Given the description of an element on the screen output the (x, y) to click on. 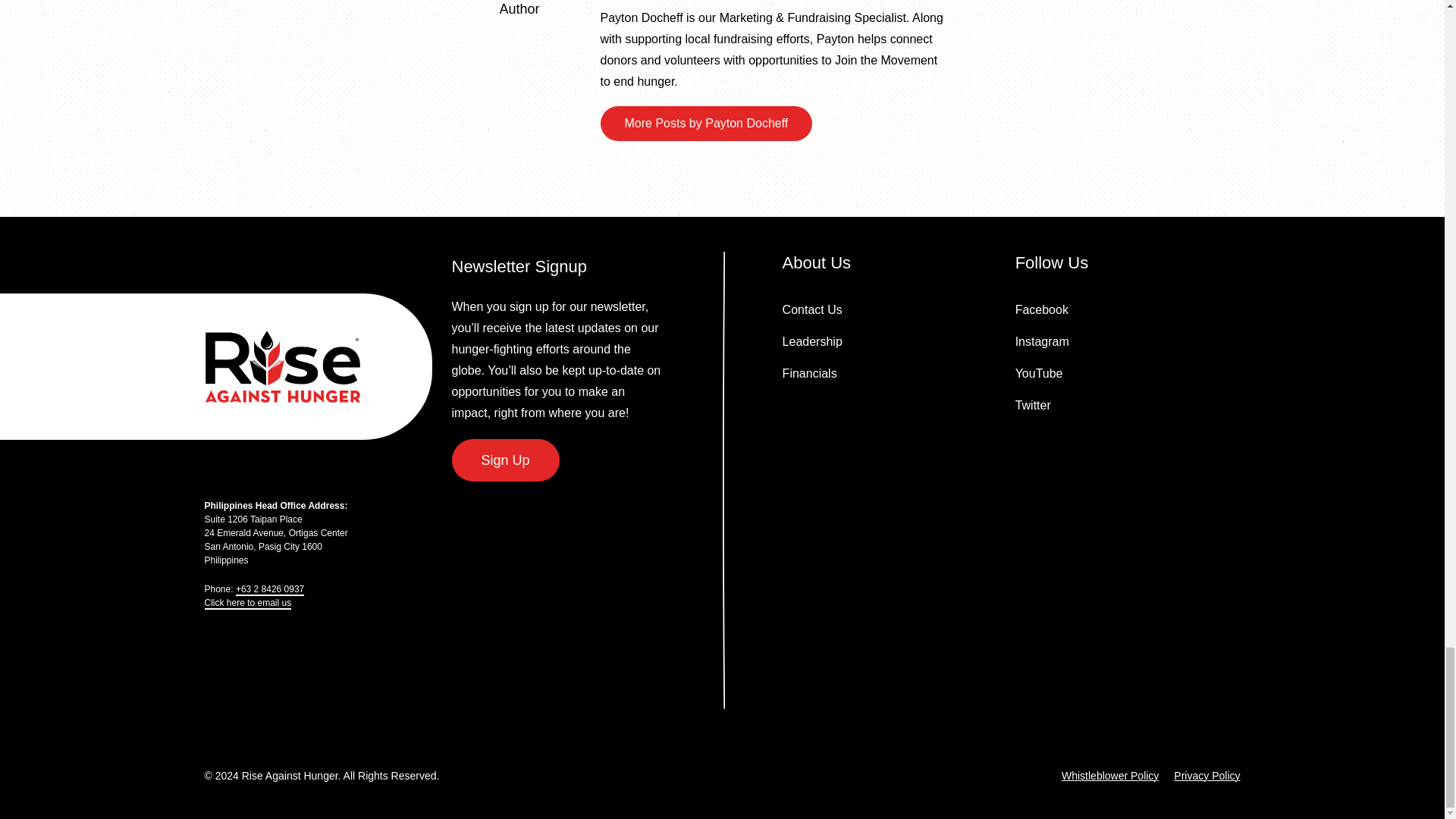
Sign Up (505, 459)
More Posts by Payton Docheff (705, 123)
